Given the description of an element on the screen output the (x, y) to click on. 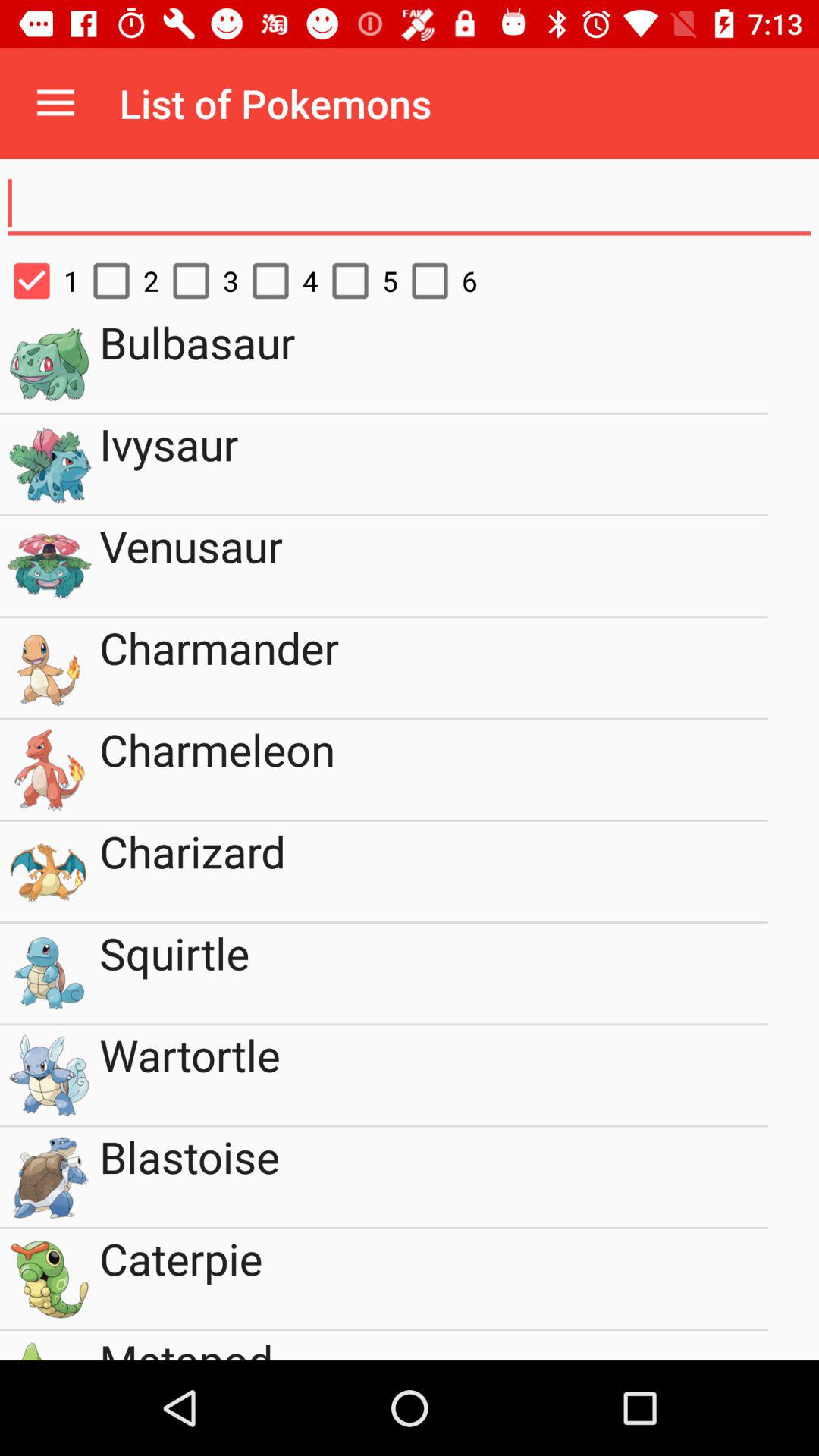
search bar (409, 204)
